Given the description of an element on the screen output the (x, y) to click on. 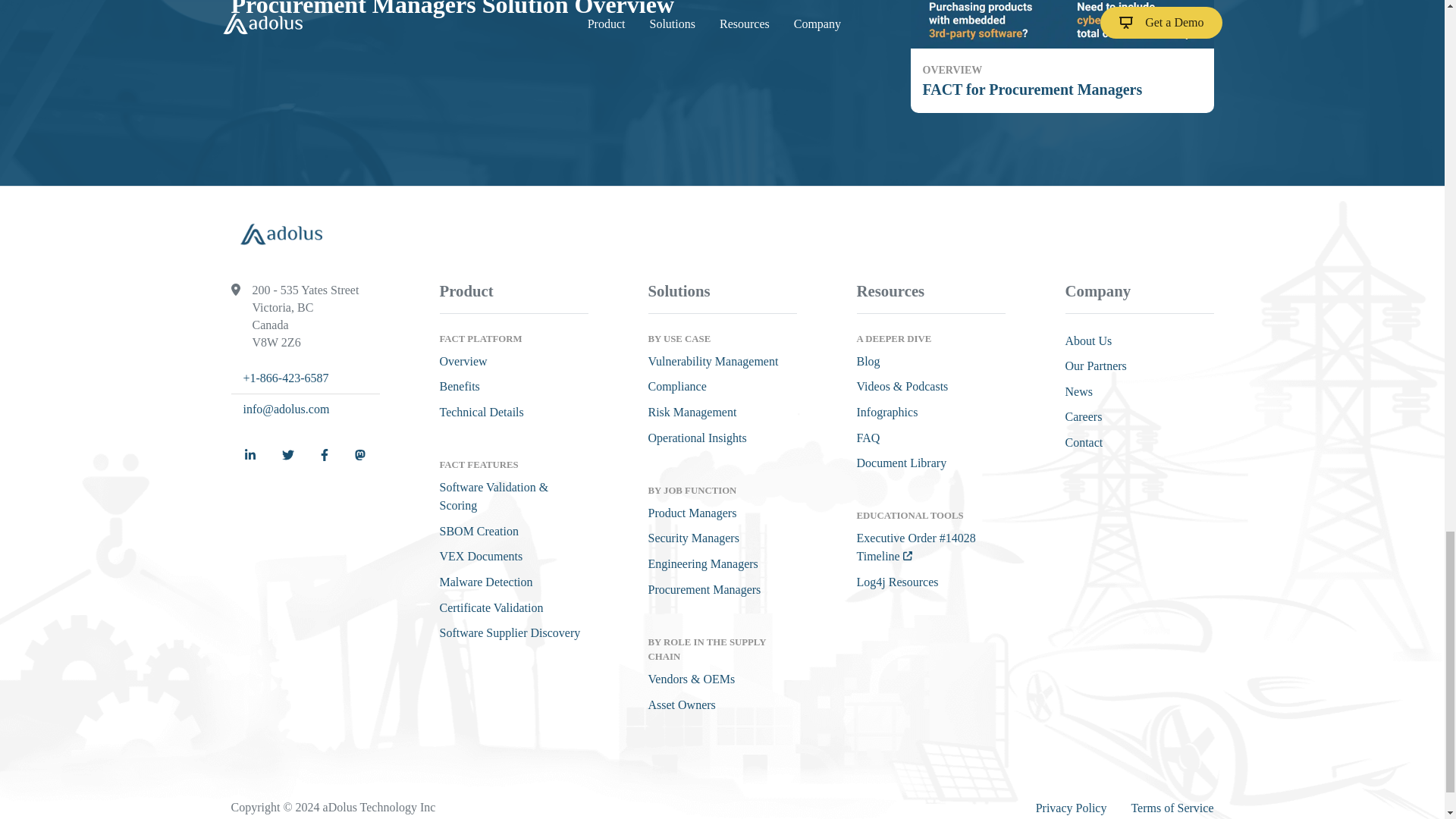
SBOM Creation (478, 530)
Benefits (459, 386)
Operational Insights (696, 437)
Certificate Validation (491, 607)
Vulnerability Management (712, 360)
Compliance (676, 386)
Blog (868, 360)
Software Supplier Discovery (509, 632)
Technical Details (481, 411)
Product Managers (691, 512)
Security Managers (692, 537)
Risk Management (691, 411)
Overview (1061, 56)
Asset Owners (463, 360)
